Given the description of an element on the screen output the (x, y) to click on. 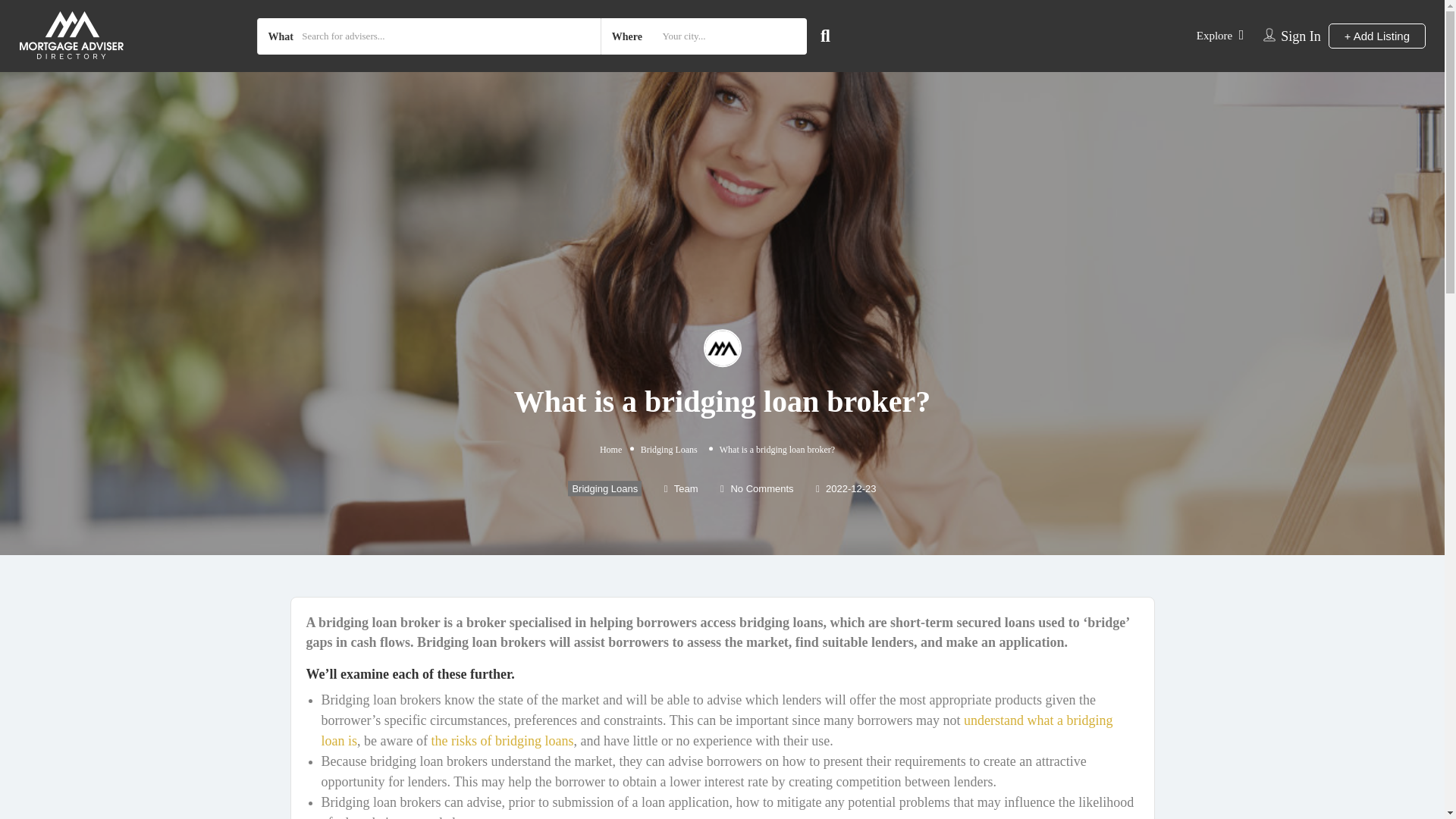
Sign In (1300, 36)
Add Listing (1376, 34)
Explore (1213, 34)
